Given the description of an element on the screen output the (x, y) to click on. 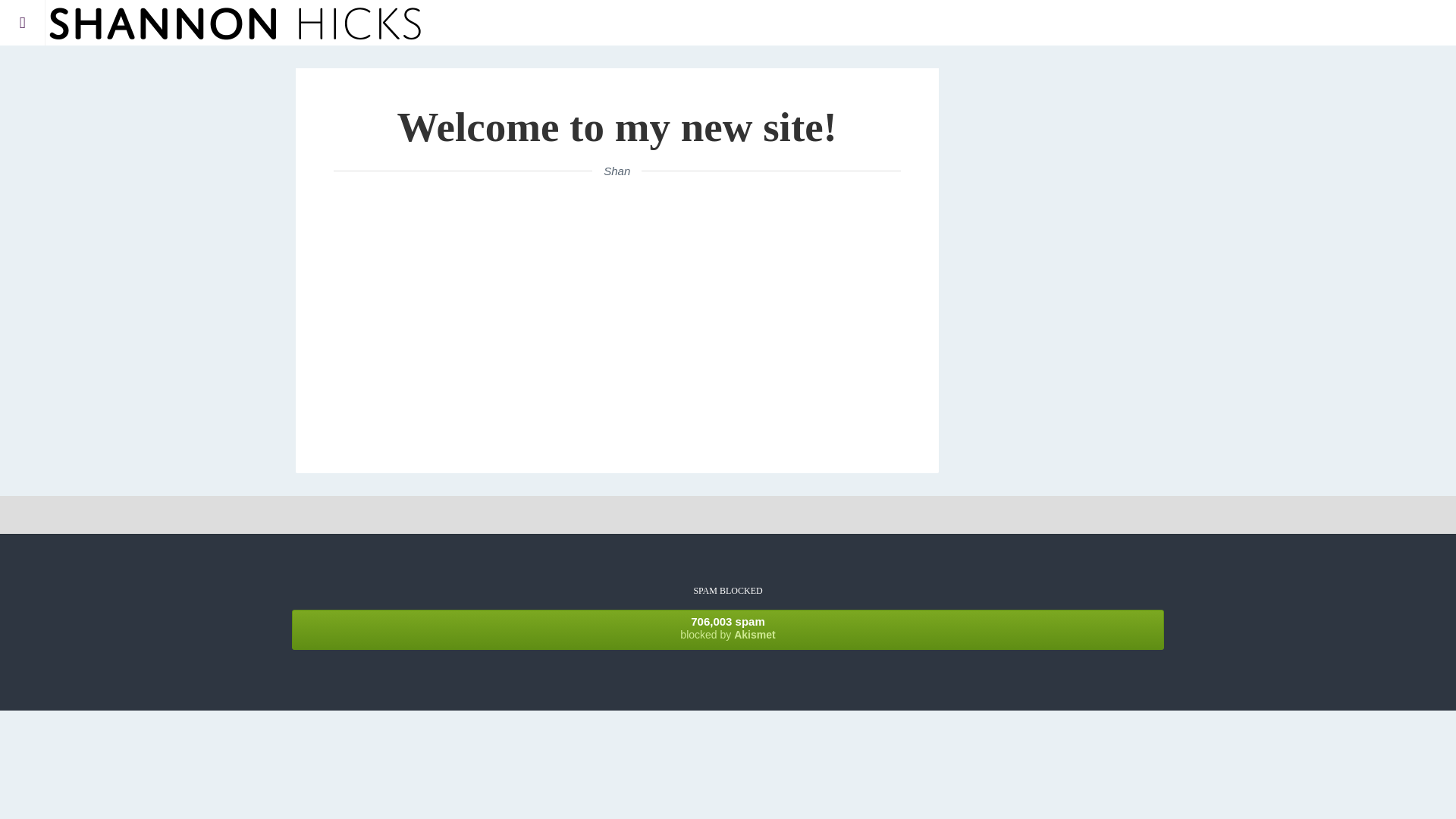
Posts by Shan (617, 170)
Shan's Blog (235, 22)
Projects (112, 65)
Shan (617, 170)
Projects (117, 73)
Projects (727, 629)
